Given the description of an element on the screen output the (x, y) to click on. 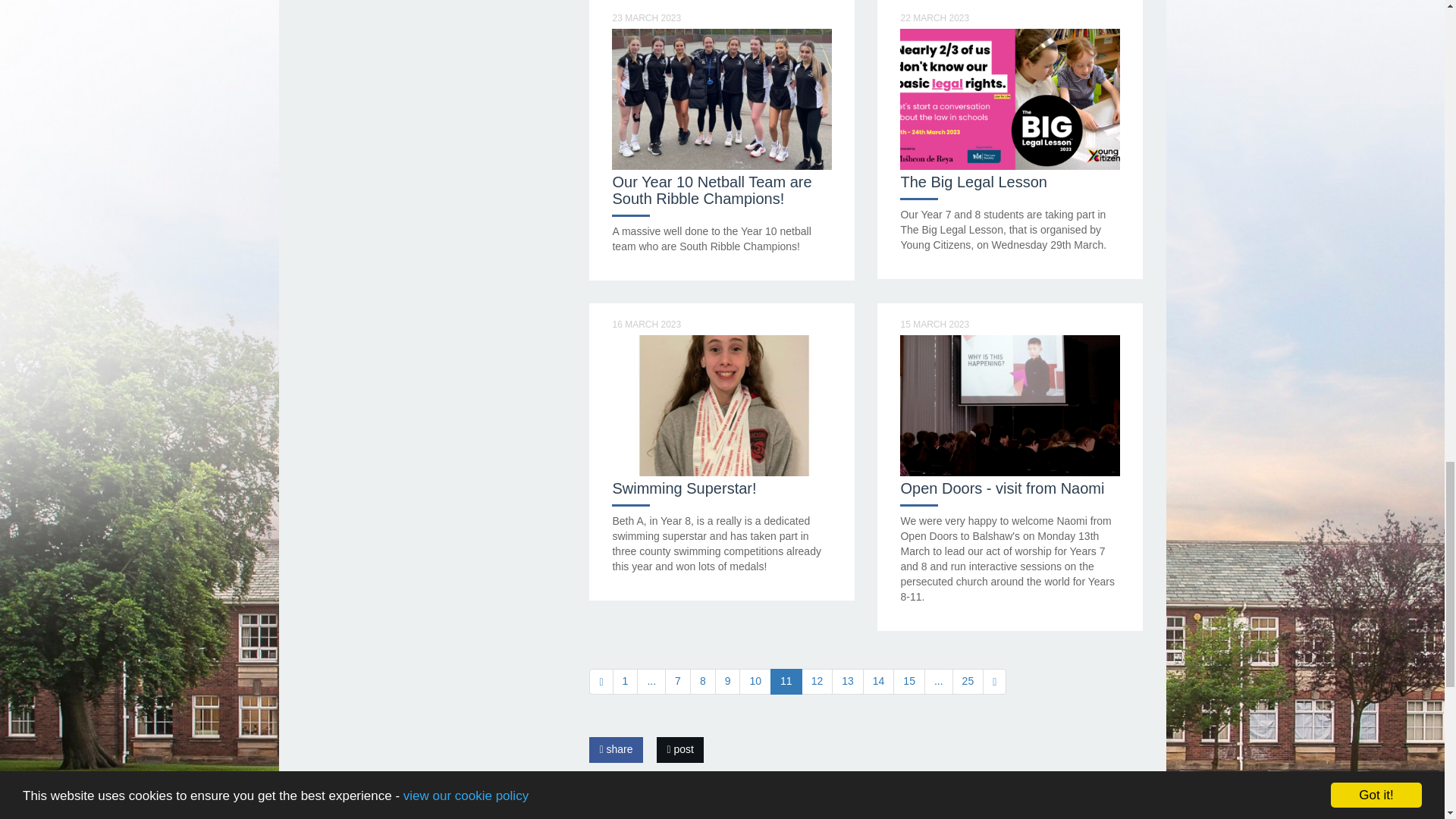
Share on Facebook (615, 749)
Post on X (679, 749)
